Given the description of an element on the screen output the (x, y) to click on. 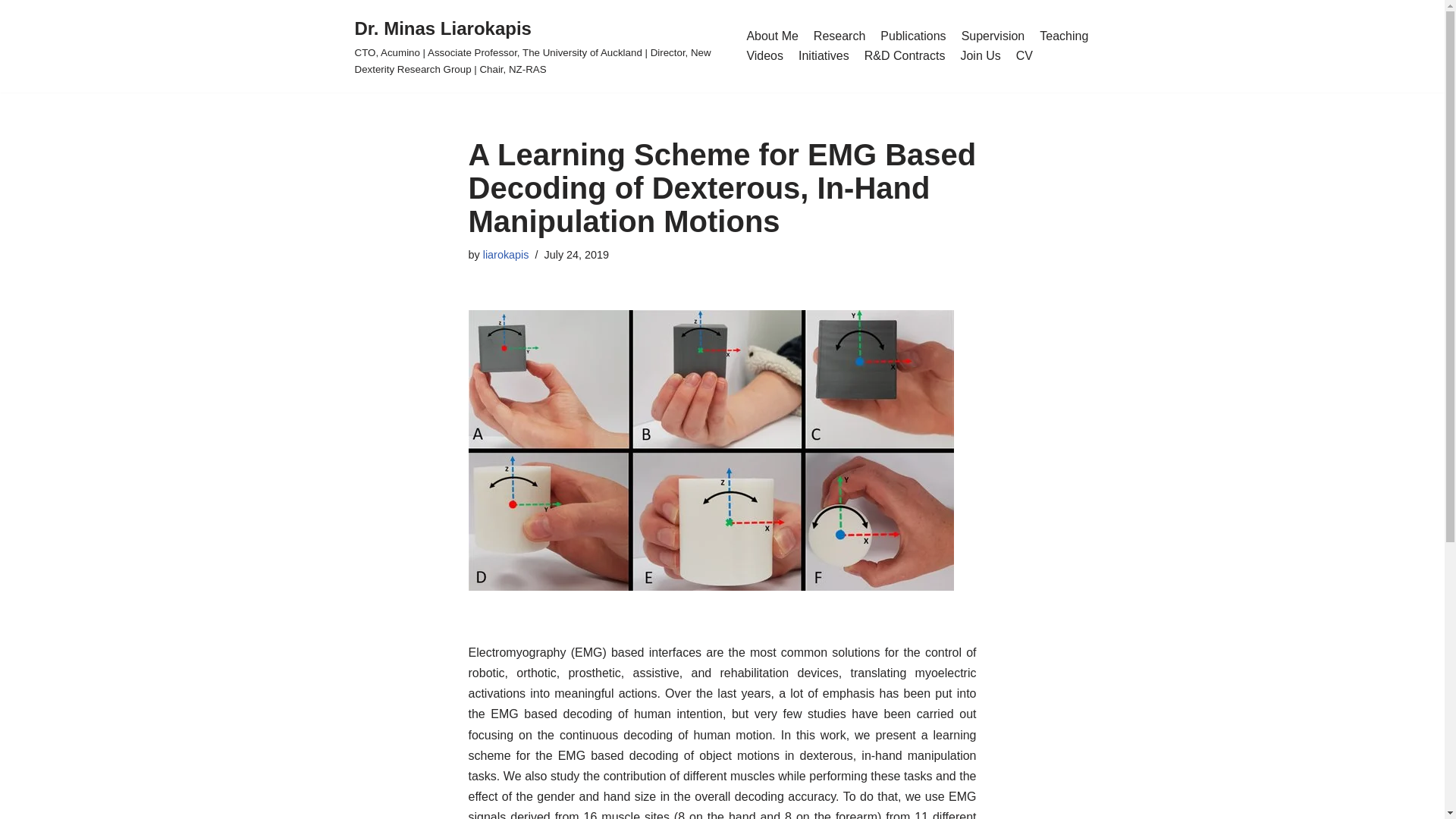
liarokapis (506, 254)
Supervision (992, 35)
Initiatives (822, 55)
Join Us (979, 55)
About Me (771, 35)
Teaching (1063, 35)
Publications (912, 35)
Dr. Minas Liarokapis (539, 45)
Research (838, 35)
Posts by liarokapis (506, 254)
